Given the description of an element on the screen output the (x, y) to click on. 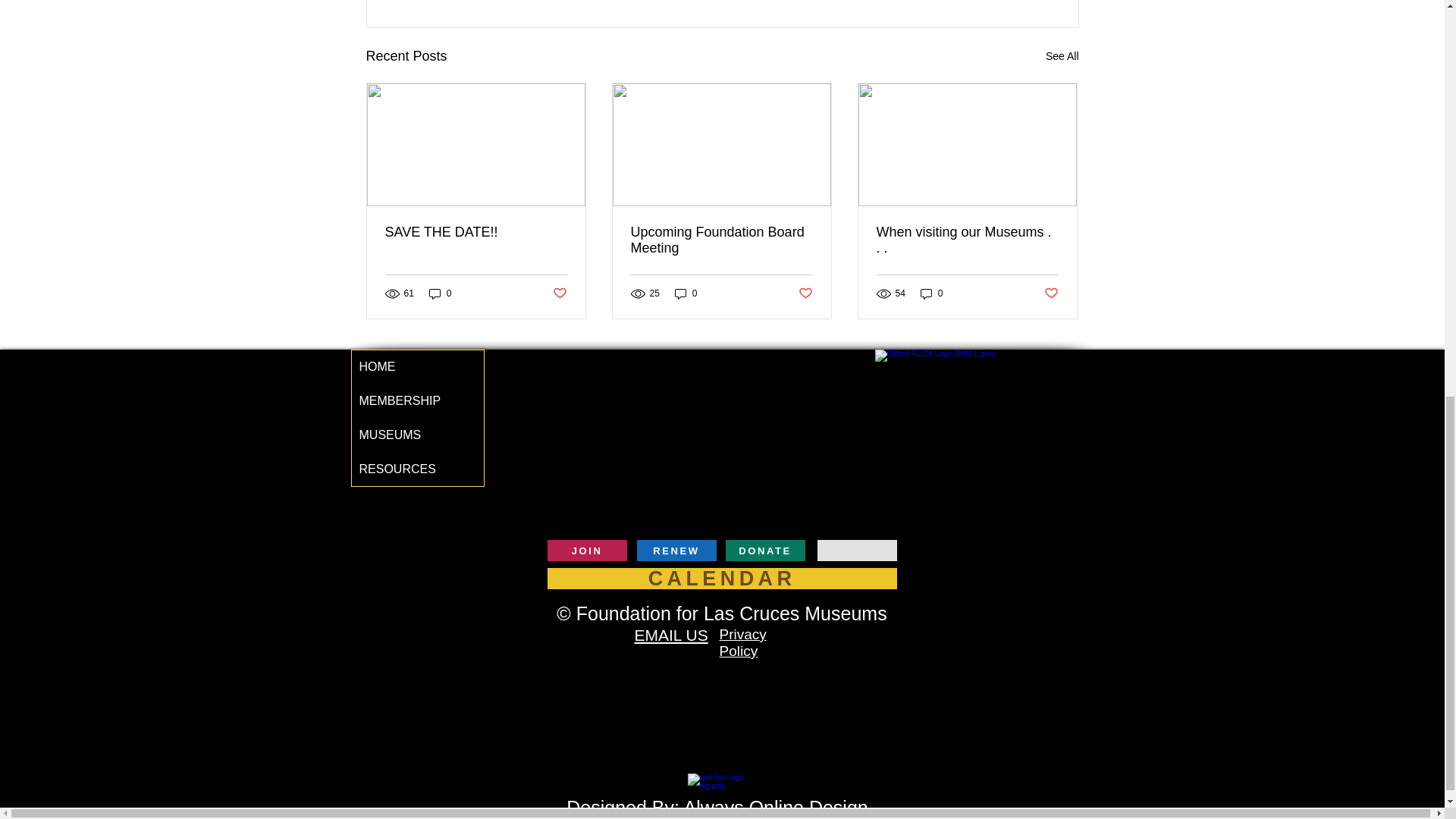
Facebook Like (1048, 552)
0 (685, 292)
Post not marked as liked (558, 293)
SAVE THE DATE!! (476, 232)
Upcoming Foundation Board Meeting (721, 240)
See All (1061, 56)
0 (440, 292)
